Given the description of an element on the screen output the (x, y) to click on. 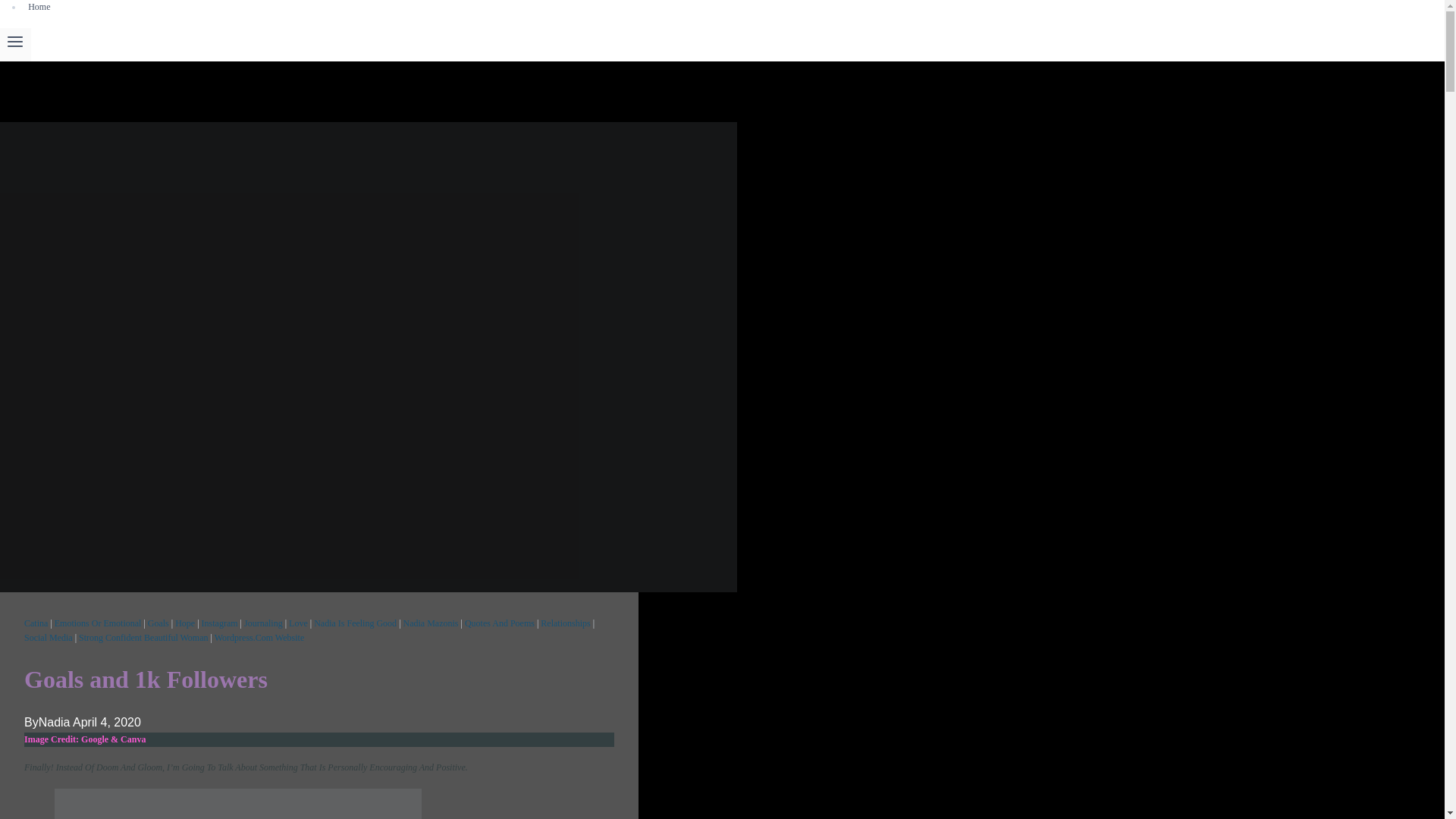
Catina (36, 623)
Quotes And Poems (499, 623)
Journaling (263, 623)
Instagram (220, 623)
Emotions Or Emotional (98, 623)
Nadia (54, 721)
Strong Confident Beautiful Woman (143, 637)
Wordpress.Com Website (259, 637)
Nadia Is Feeling Good (355, 623)
Skip To Content (14, 7)
